Given the description of an element on the screen output the (x, y) to click on. 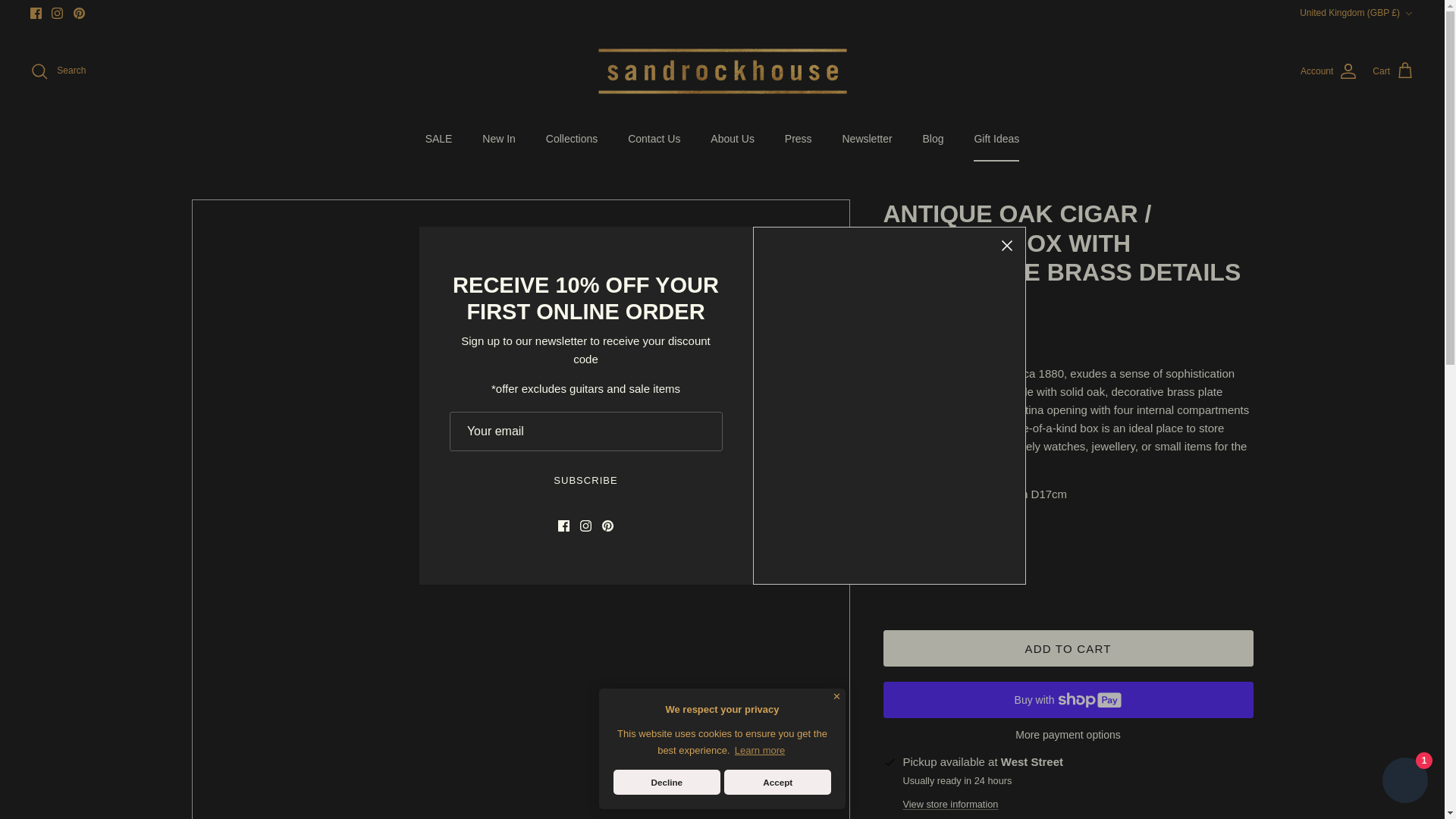
Accept (777, 781)
Down (1408, 13)
Sandrock House (721, 70)
RIGHT (832, 528)
Pinterest (79, 12)
Pinterest (79, 12)
Instagram (56, 12)
Instagram (56, 12)
Decline (666, 781)
Learn more (759, 750)
Facebook (36, 12)
Shopify online store chat (1404, 781)
Facebook (36, 12)
